Given the description of an element on the screen output the (x, y) to click on. 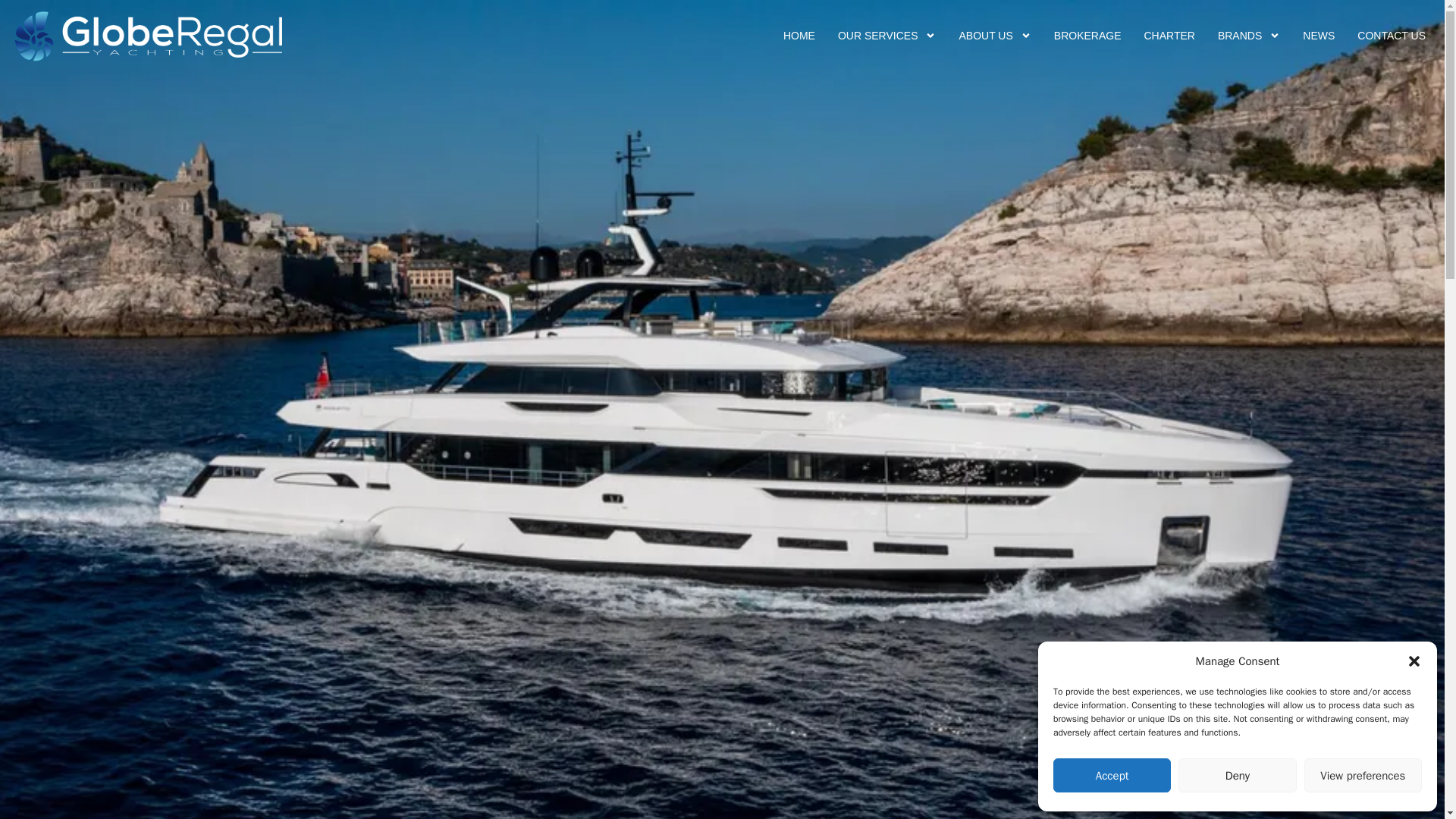
HOME (799, 35)
Accept (1111, 775)
ABOUT US (994, 35)
View preferences (1363, 775)
Deny (1236, 775)
CHARTER (1169, 35)
OUR SERVICES (887, 35)
CONTACT US (1391, 35)
BRANDS (1249, 35)
NEWS (1318, 35)
BROKERAGE (1087, 35)
